Given the description of an element on the screen output the (x, y) to click on. 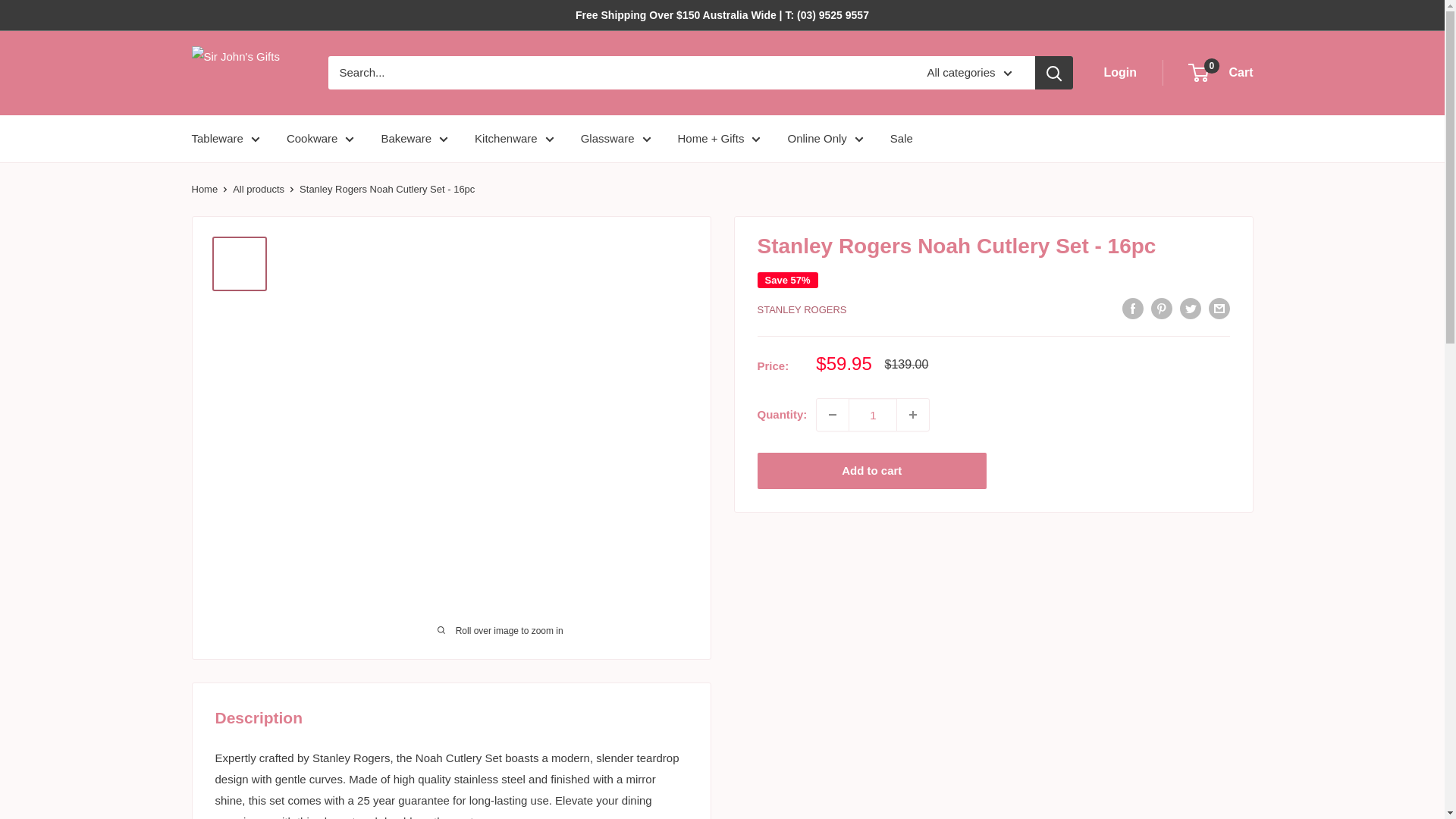
Increase quantity by 1 (912, 414)
Decrease quantity by 1 (832, 414)
1 (872, 414)
